Given the description of an element on the screen output the (x, y) to click on. 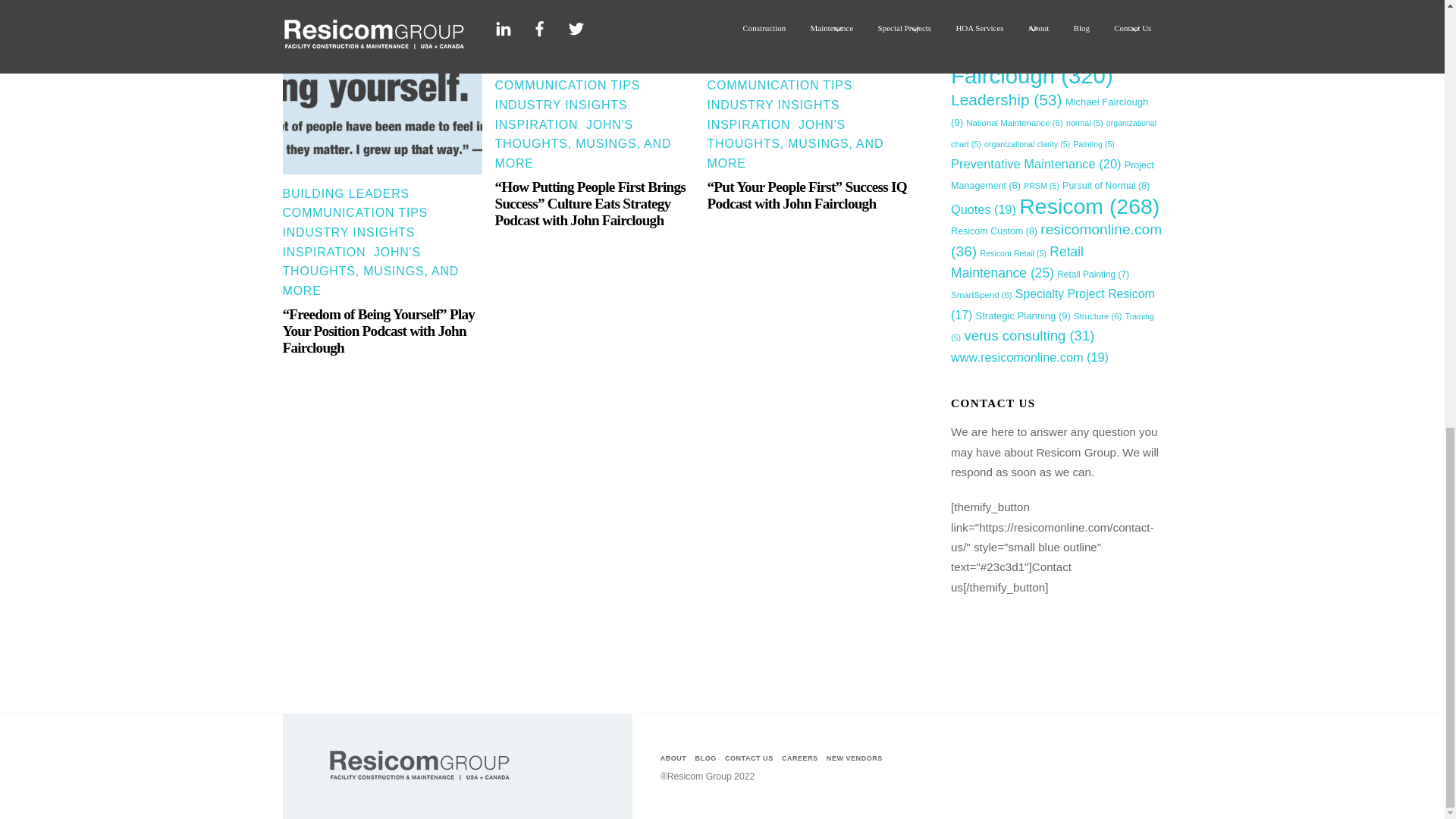
The Resicom Group (420, 779)
INSPIRATION (536, 124)
JOHN'S THOUGHTS, MUSINGS, AND MORE (370, 271)
JOHN'S THOUGHTS, MUSINGS, AND MORE (583, 143)
BUILDING LEADERS (345, 193)
BUILDING LEADERS (559, 65)
COMMUNICATION TIPS (567, 84)
COMMUNICATION TIPS (355, 212)
INDUSTRY INSIGHTS (348, 232)
INSPIRATION (323, 251)
INDUSTRY INSIGHTS (561, 104)
